Given the description of an element on the screen output the (x, y) to click on. 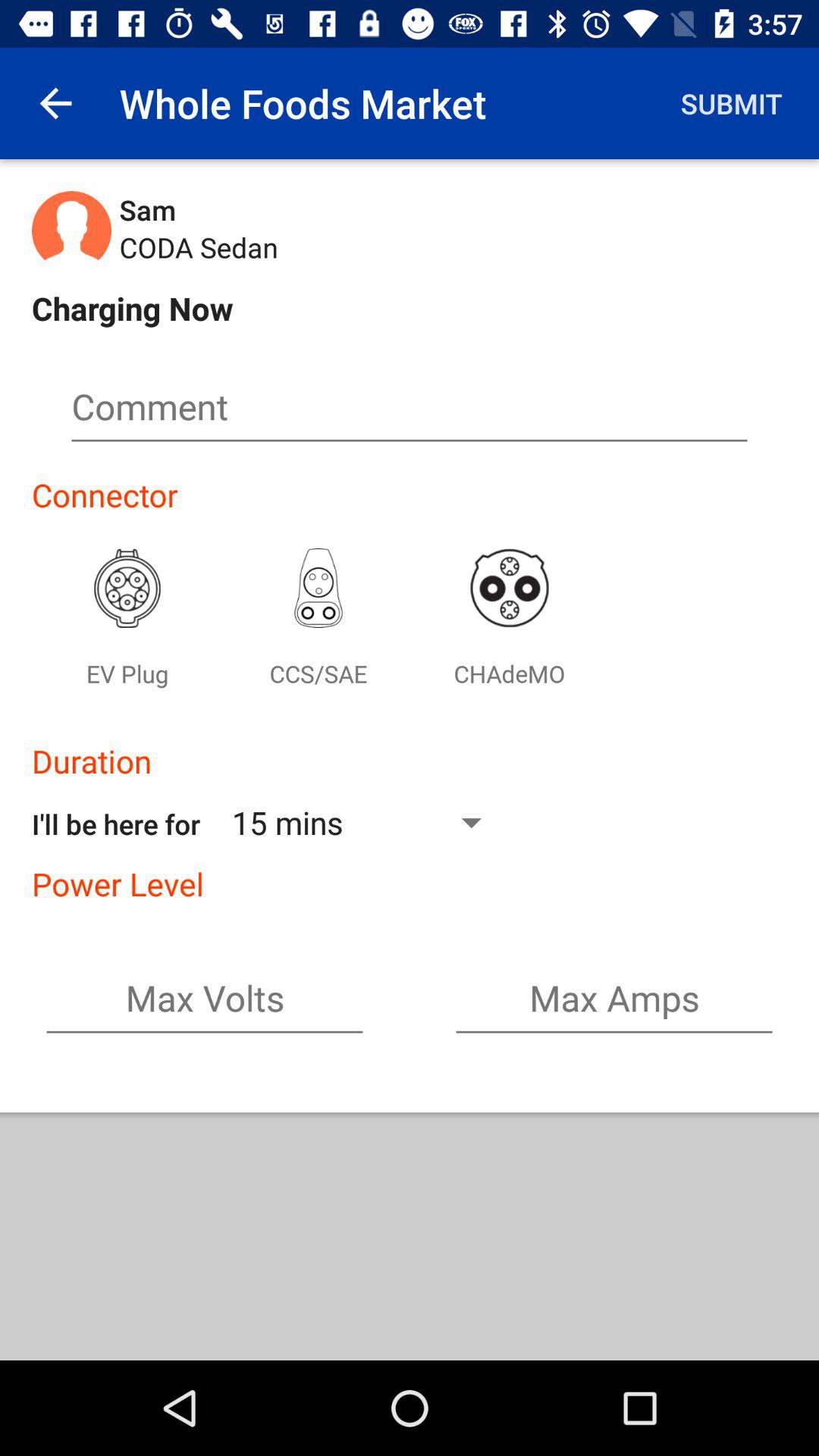
previous page (55, 103)
